Given the description of an element on the screen output the (x, y) to click on. 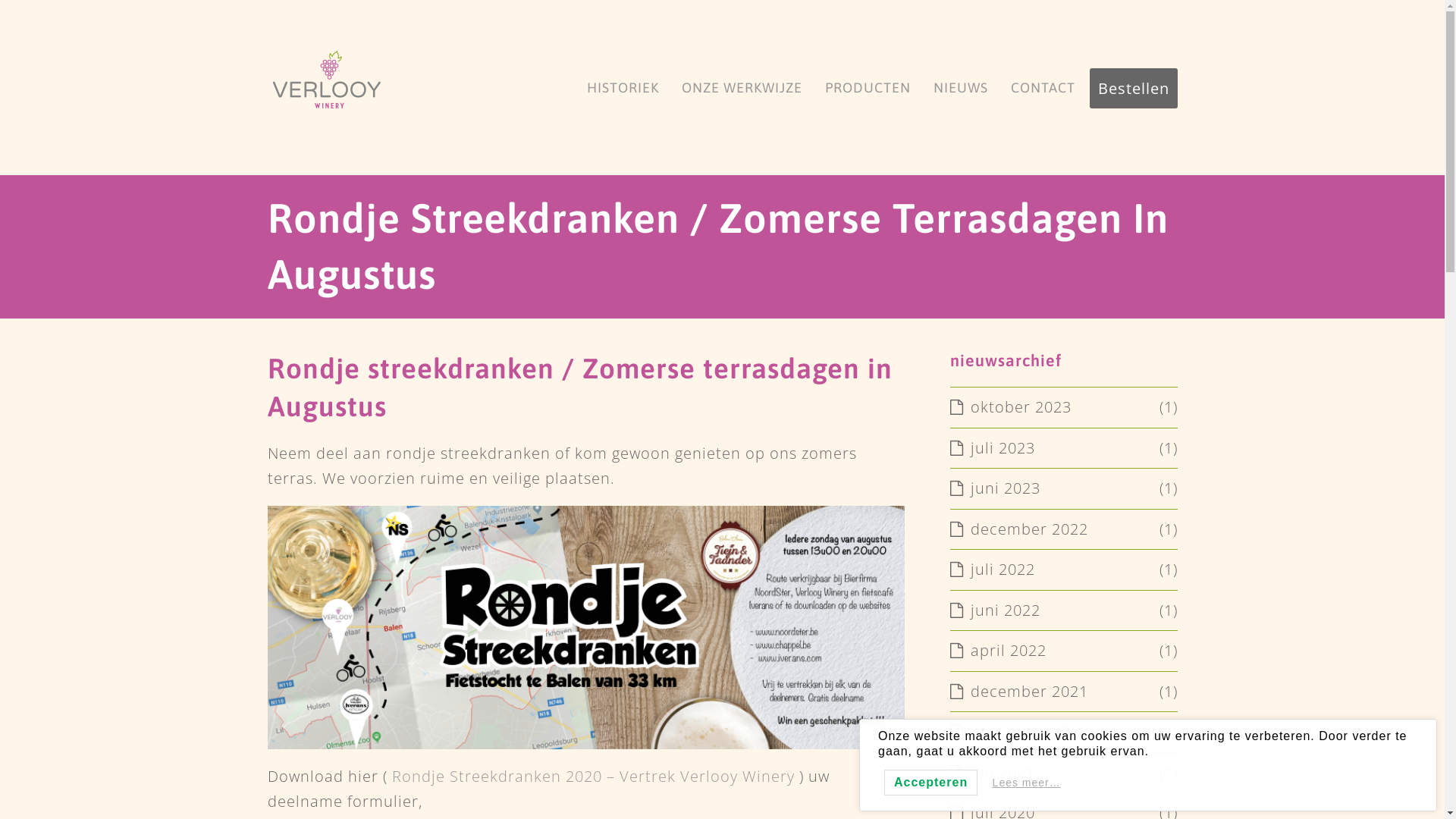
juli 2021 Element type: text (991, 772)
NIEUWS Element type: text (960, 87)
CONTACT Element type: text (1042, 87)
PRODUCTEN Element type: text (866, 87)
juni 2022 Element type: text (994, 609)
april 2022 Element type: text (997, 650)
HISTORIEK Element type: text (621, 87)
juni 2023 Element type: text (994, 487)
ONZE WERKWIJZE Element type: text (741, 87)
december 2021 Element type: text (1018, 690)
december 2022 Element type: text (1018, 528)
oktober 2023 Element type: text (1009, 406)
Bestellen Element type: text (1132, 87)
november 2021 Element type: text (1018, 731)
juli 2022 Element type: text (991, 568)
juli 2023 Element type: text (991, 447)
